Given the description of an element on the screen output the (x, y) to click on. 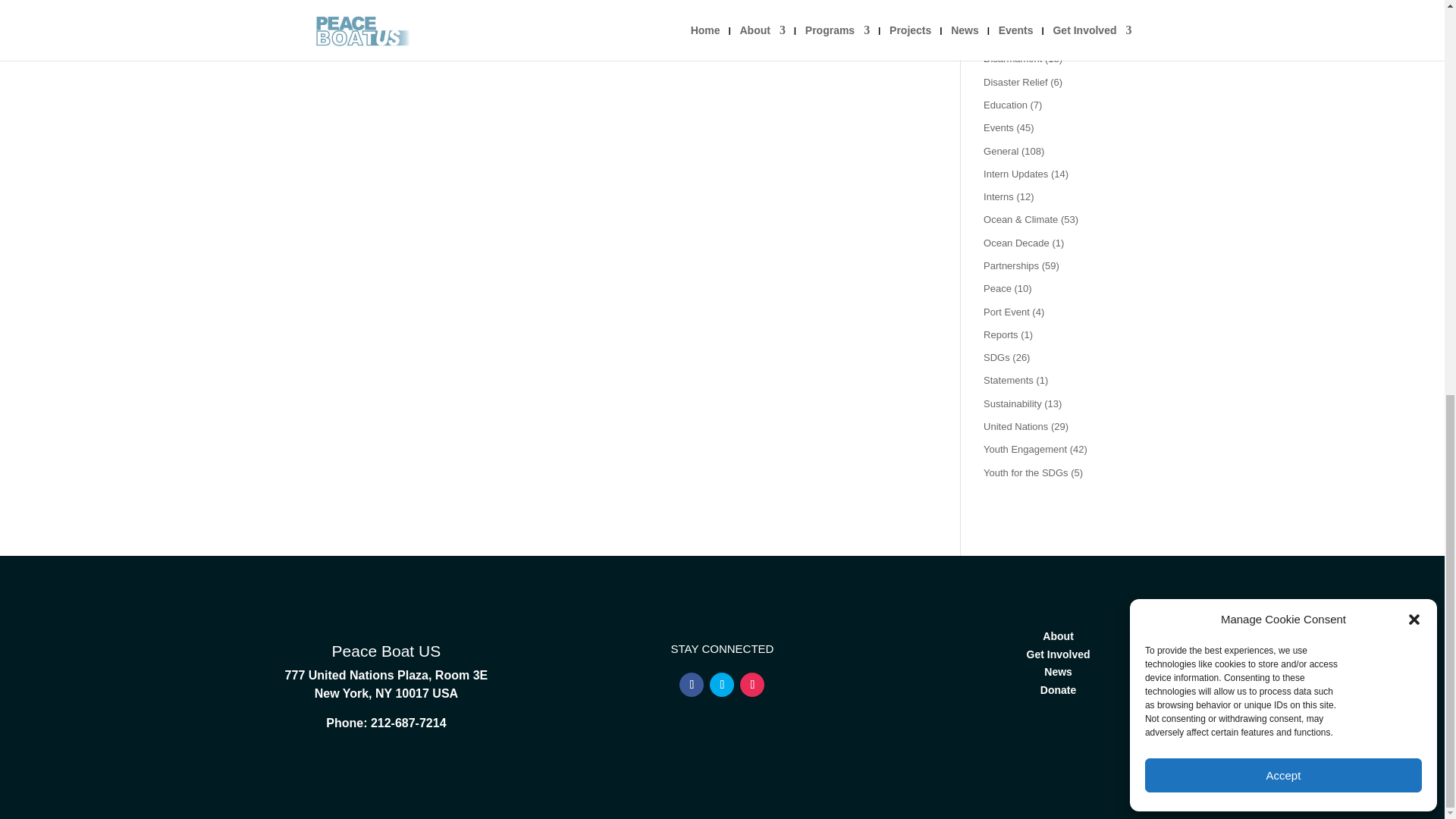
Follow on Facebook (691, 684)
Accept (1283, 15)
Follow on Instagram (751, 684)
Follow on Twitter (721, 684)
